Given the description of an element on the screen output the (x, y) to click on. 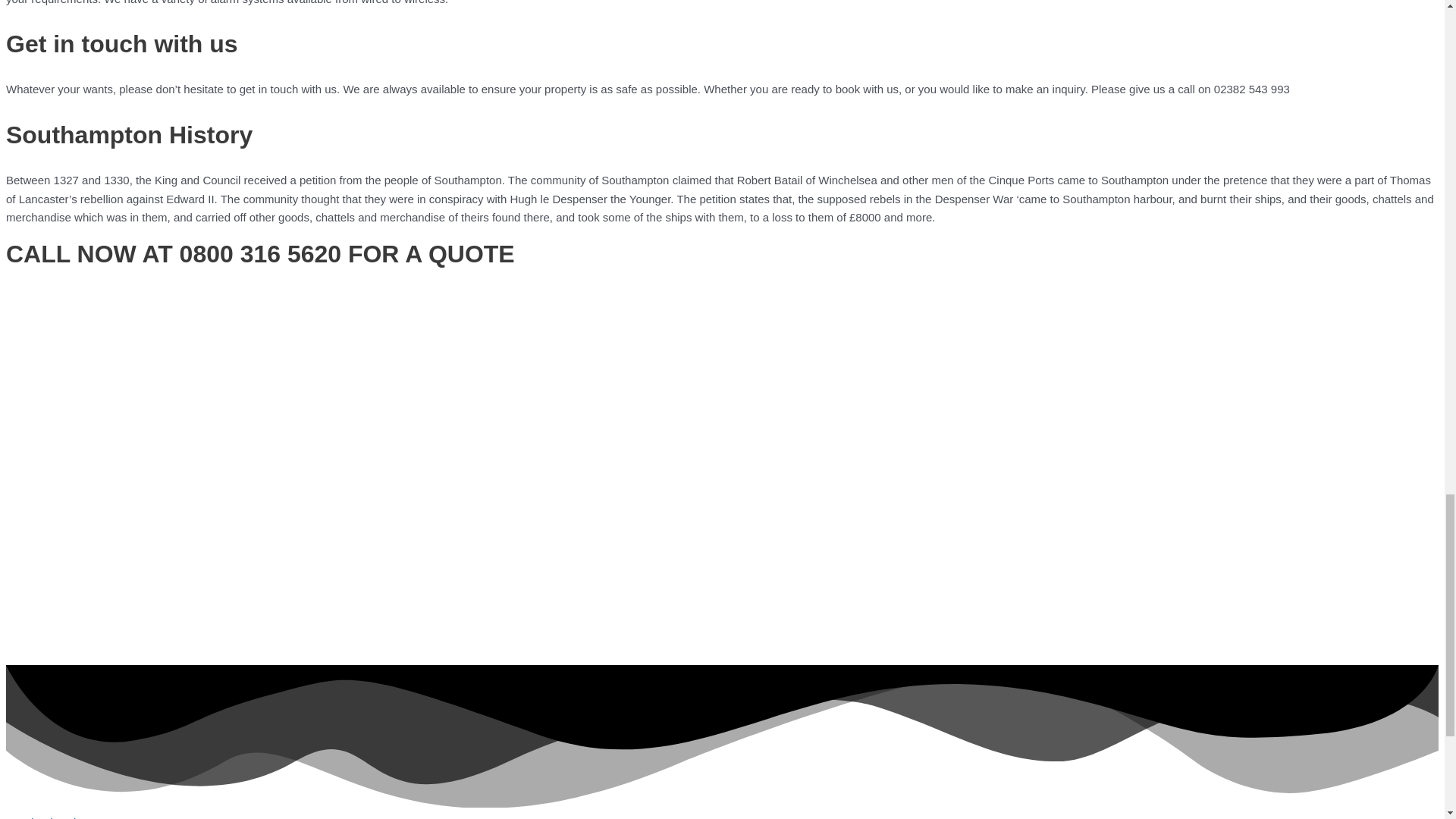
Twitter (77, 817)
Instagram (121, 817)
Facebook (32, 817)
